Given the description of an element on the screen output the (x, y) to click on. 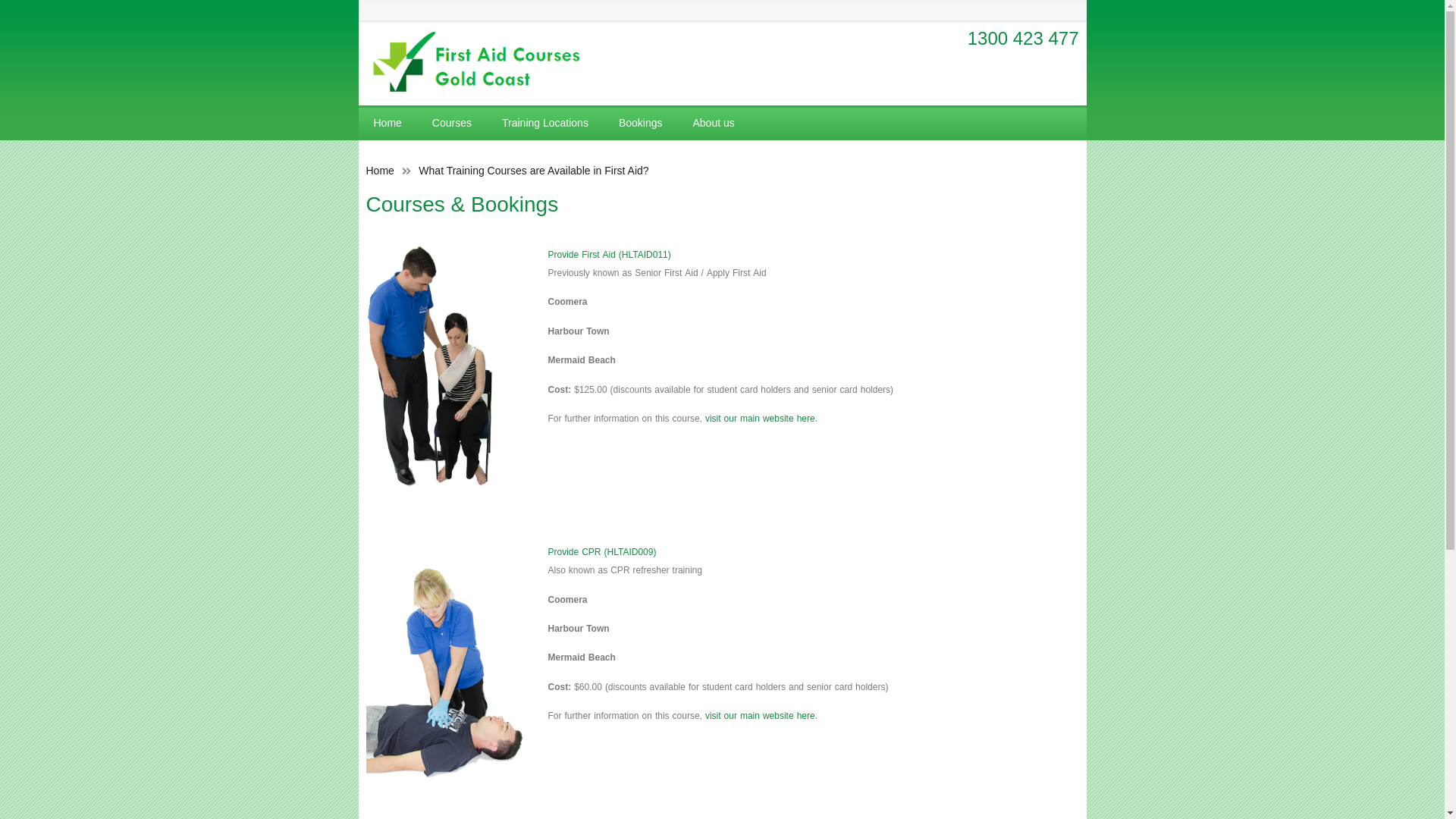
Provide CPR (HLTAID009) Element type: text (601, 551)
Training Locations Element type: text (544, 122)
About us Element type: text (713, 122)
Bookings Element type: text (640, 122)
Home Element type: text (379, 170)
visit our main website here. Element type: text (761, 418)
Home Element type: text (386, 122)
Provide First Aid (HLTAID011) Element type: text (608, 254)
visit our main website here. Element type: text (761, 715)
Courses Element type: text (451, 122)
1300 423 477 Element type: text (1023, 38)
